Given the description of an element on the screen output the (x, y) to click on. 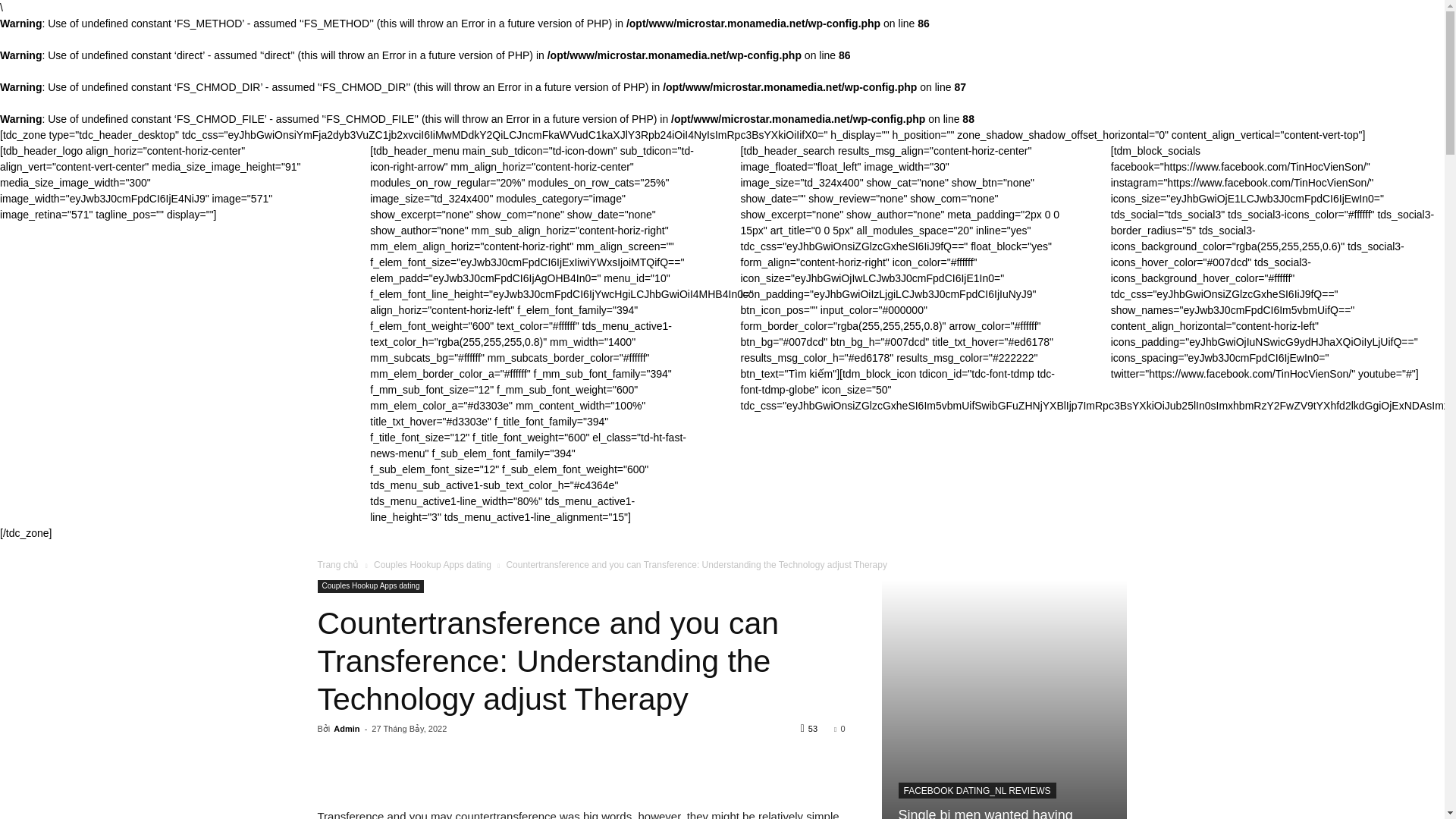
0 (839, 728)
Admin (346, 728)
Couples Hookup Apps dating (433, 564)
Couples Hookup Apps dating (370, 585)
Single bi men wanted having mature bi pair (1003, 699)
Single bi men wanted having mature bi pair (984, 813)
Single bi men wanted having mature bi pair (984, 813)
